Given the description of an element on the screen output the (x, y) to click on. 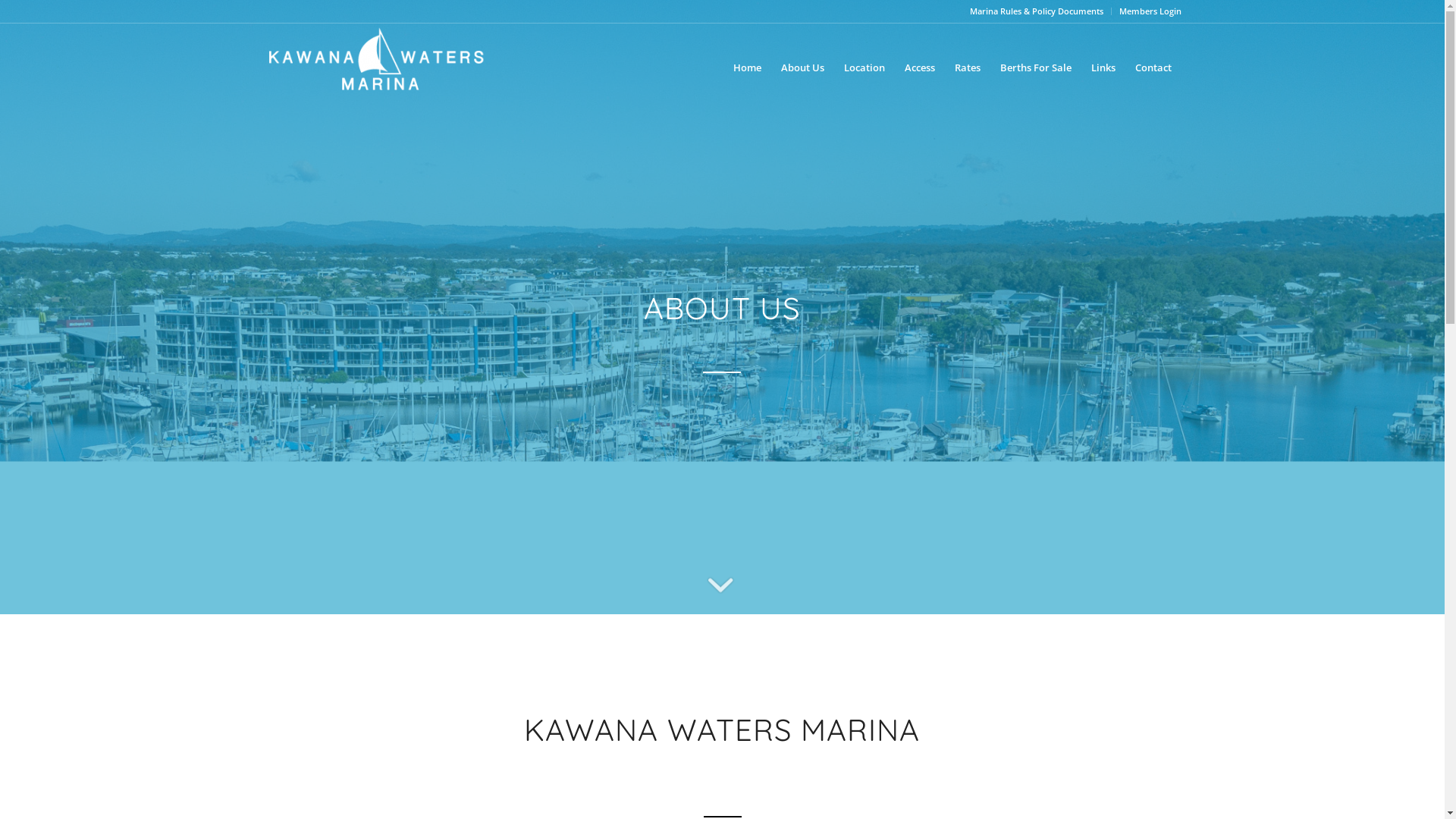
Home Element type: text (747, 67)
Contact Element type: text (1153, 67)
Rates Element type: text (967, 67)
Access Element type: text (919, 67)
About Us Element type: text (801, 67)
Marina Rules & Policy Documents Element type: text (1035, 10)
Location Element type: text (864, 67)
Berths For Sale Element type: text (1035, 67)
Links Element type: text (1103, 67)
Members Login Element type: text (1150, 10)
